Given the description of an element on the screen output the (x, y) to click on. 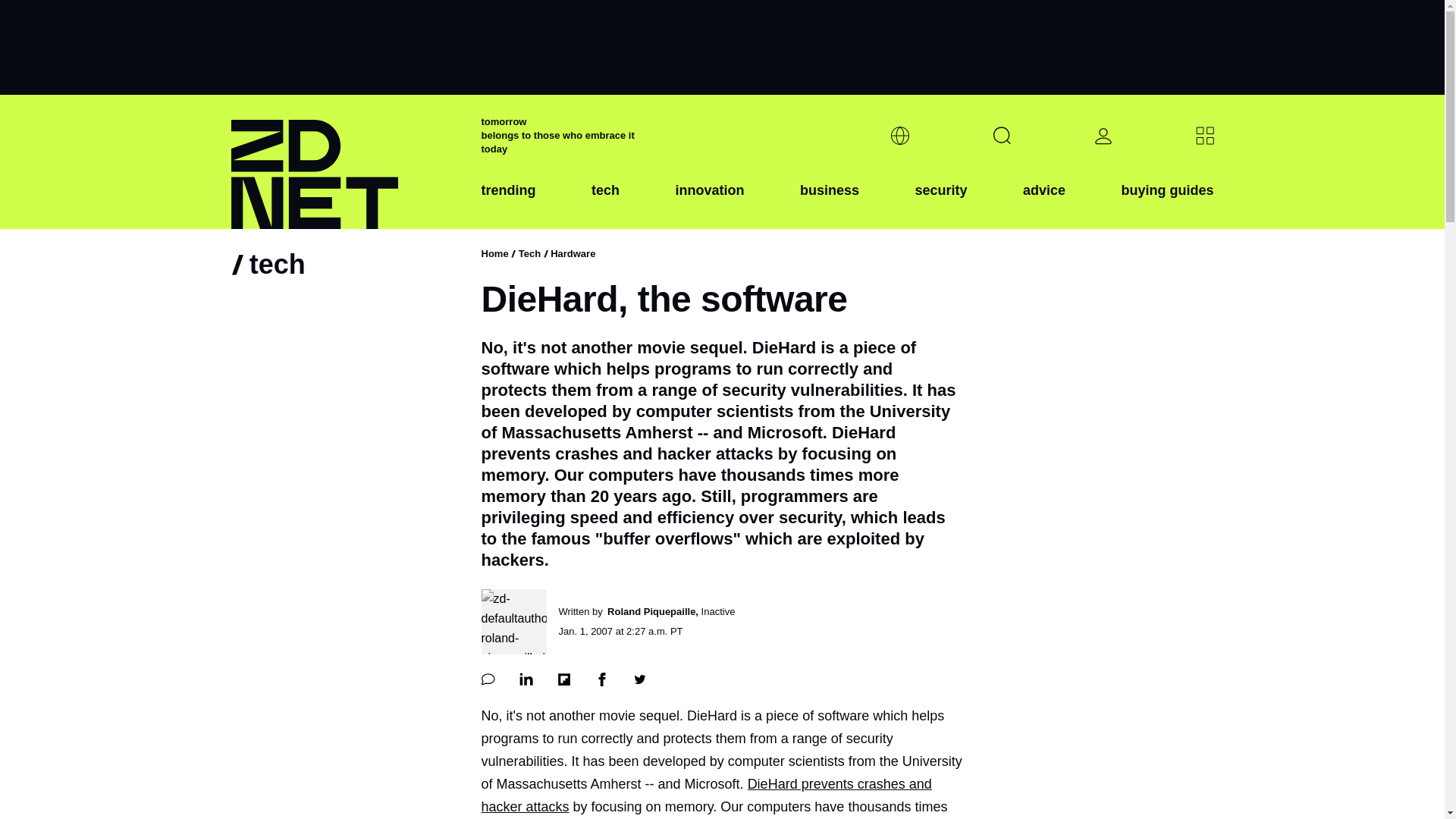
trending (507, 202)
ZDNET (346, 162)
